Given the description of an element on the screen output the (x, y) to click on. 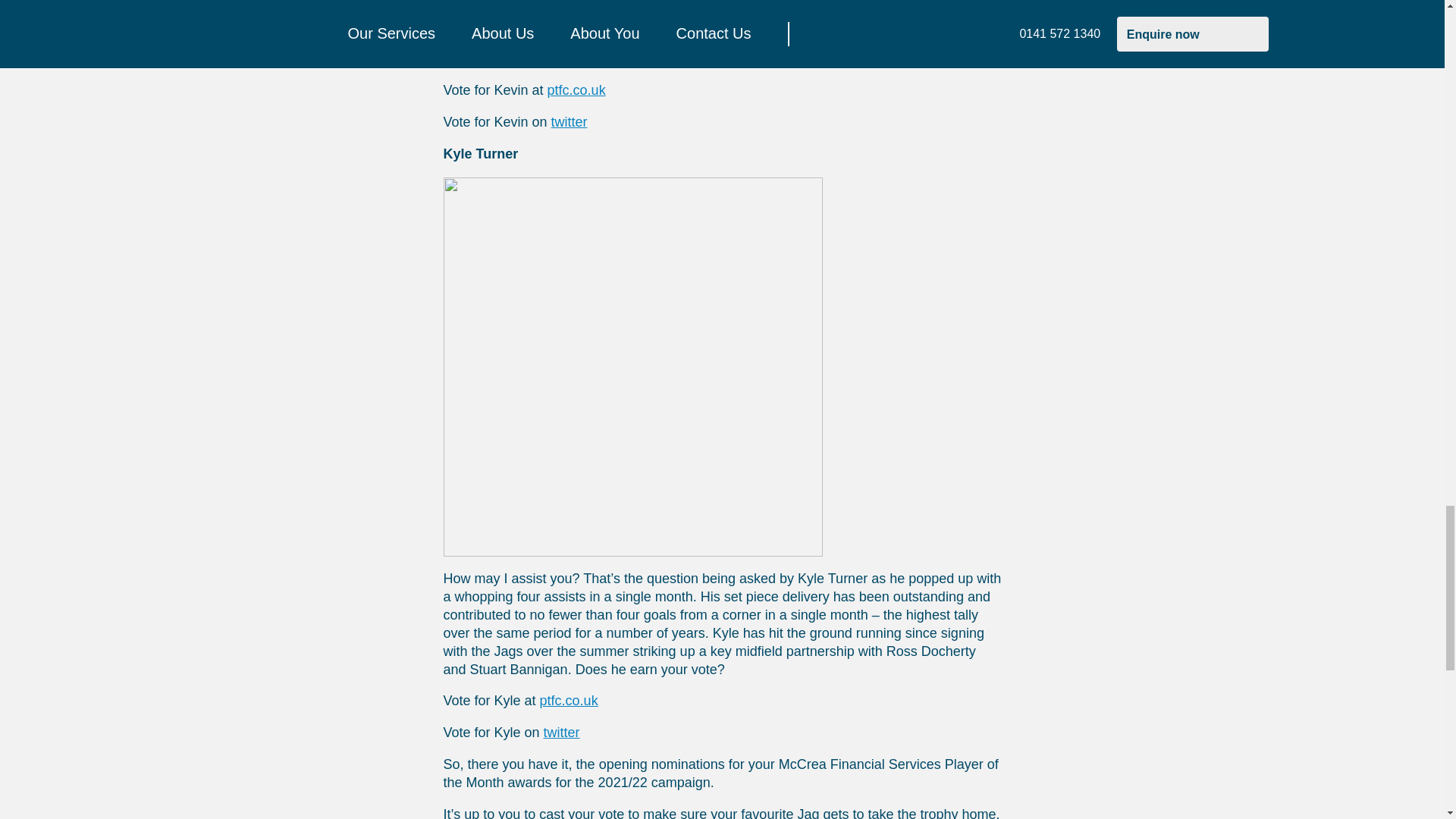
ptfc.co.uk (576, 89)
